Given the description of an element on the screen output the (x, y) to click on. 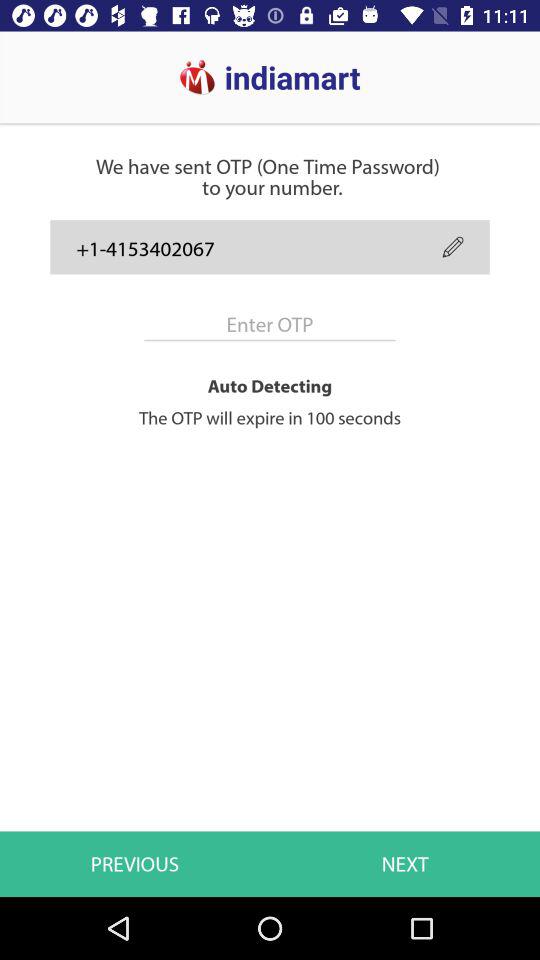
edit (452, 246)
